Given the description of an element on the screen output the (x, y) to click on. 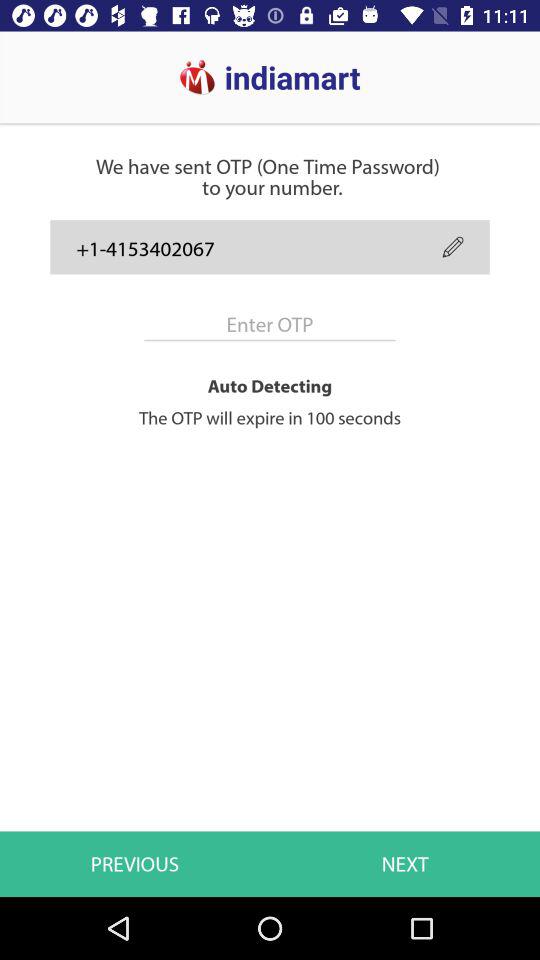
edit (452, 246)
